Given the description of an element on the screen output the (x, y) to click on. 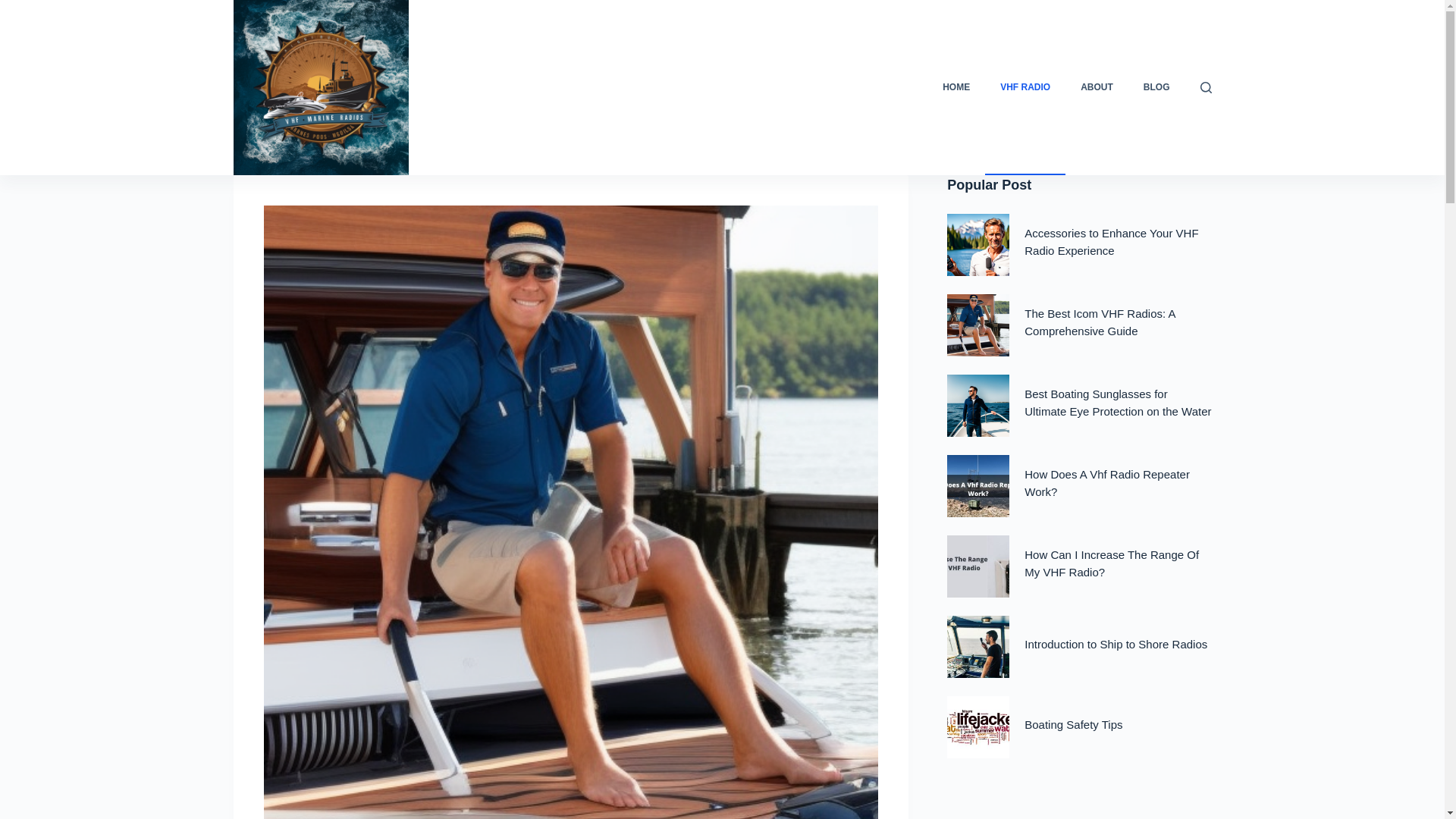
How Can I Increase The Range Of My VHF Radio? (1111, 562)
The Best Icom VHF Radios: A Comprehensive Guide (1099, 322)
Introduction to Ship to Shore Radios (1116, 644)
How Does A Vhf Radio Repeater Work? (1107, 482)
Accessories to Enhance Your VHF Radio Experience (1111, 241)
Boating Safety Tips (1073, 724)
BLOG (1156, 87)
HOME (956, 87)
Skip to content (15, 7)
VHF RADIO (1025, 87)
ABOUT (1096, 87)
